Given the description of an element on the screen output the (x, y) to click on. 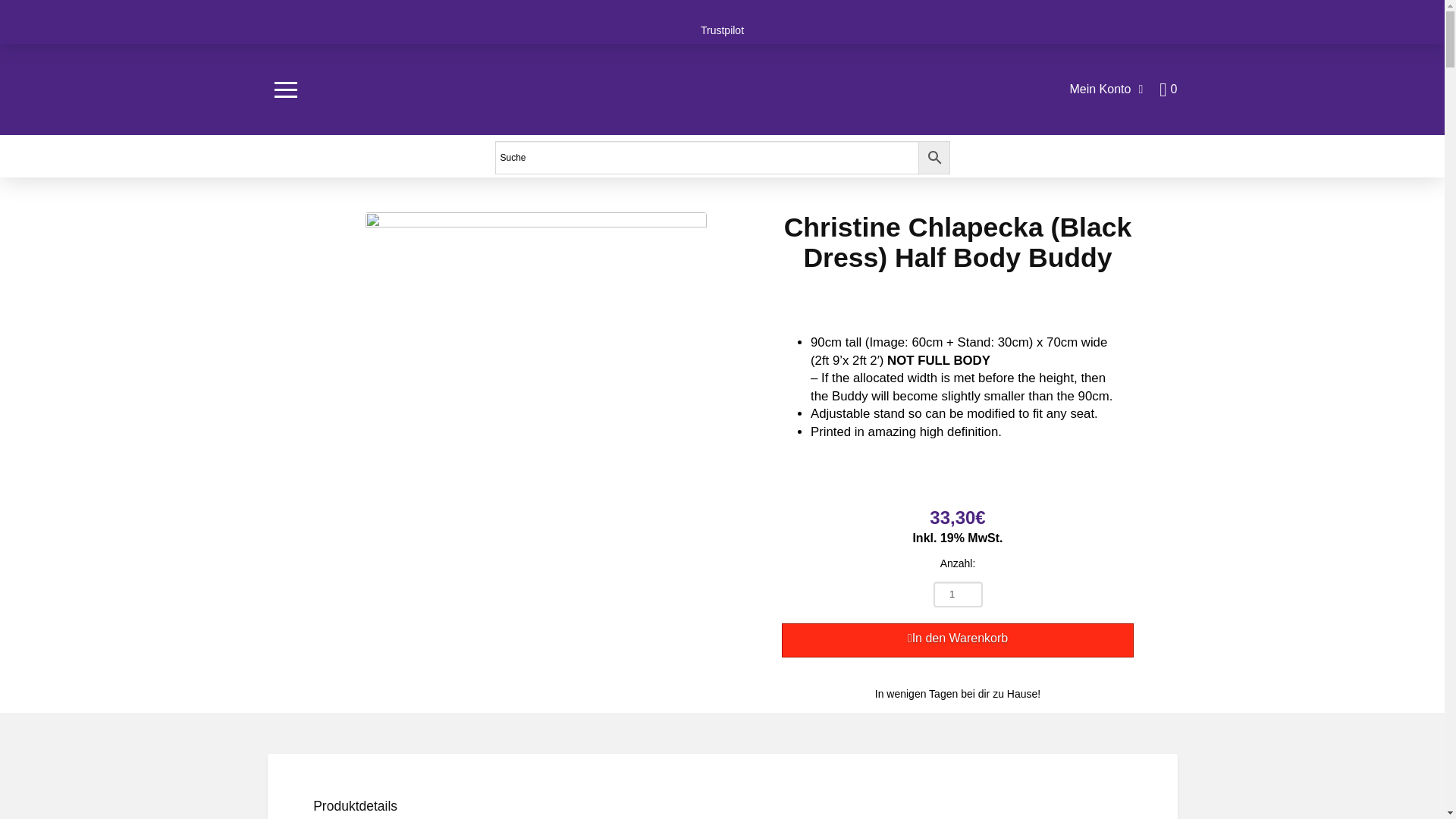
Mein Konto (1106, 89)
Trustpilot (722, 30)
1 (957, 594)
christine-chlapecka-black-dress-buddy.jpg (535, 401)
In den Warenkorb (956, 640)
